Given the description of an element on the screen output the (x, y) to click on. 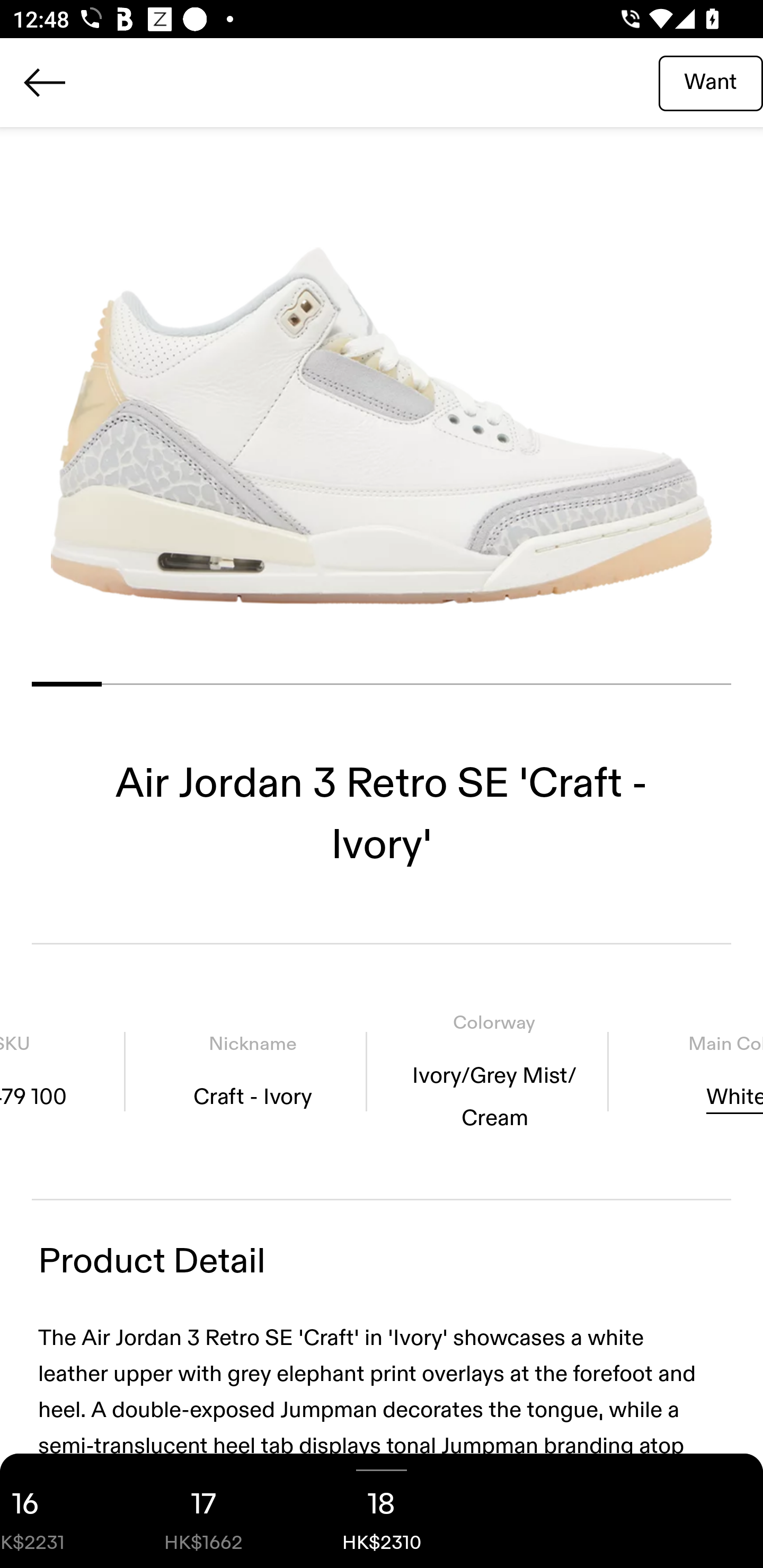
Want (710, 82)
SKU FJ9479 100 (62, 1070)
Nickname Craft - Ivory (252, 1070)
Colorway Ivory/Grey Mist/Cream (493, 1070)
Main Color White (692, 1070)
16 HK$2231 (57, 1510)
17 HK$1662 (203, 1510)
18 HK$2310 (381, 1510)
